Given the description of an element on the screen output the (x, y) to click on. 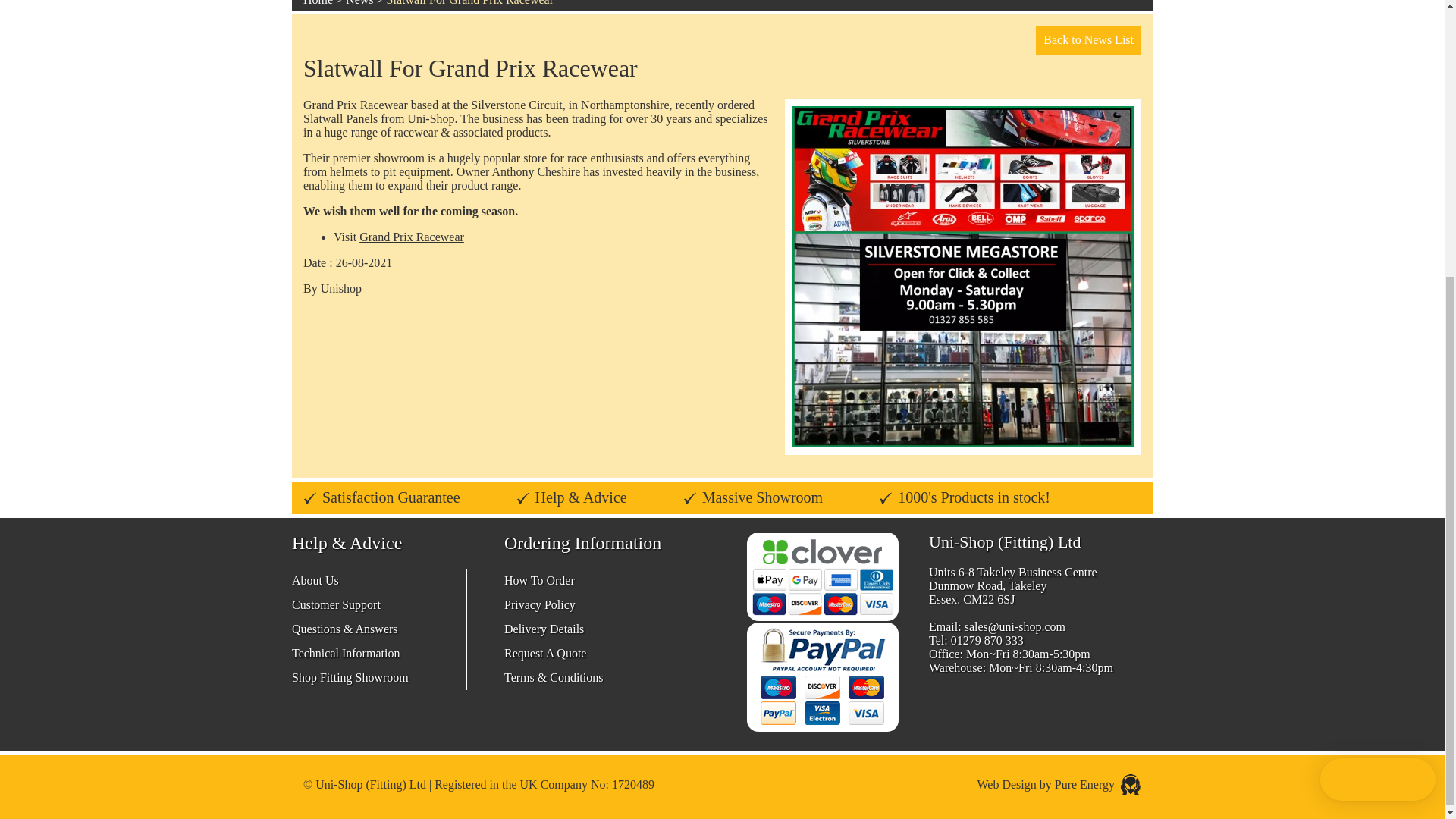
View our Slatwall (339, 118)
Home (317, 2)
Technical Information (345, 653)
About Us (315, 580)
Slatwall Panels (339, 118)
How To Order (539, 580)
Back to News List (1088, 39)
Privacy Policy (539, 604)
Smartsupp widget button (1377, 365)
Grand Prix Racewear (411, 236)
Shop Fitting Showroom (350, 676)
Request A Quote (544, 653)
News (359, 2)
Visit Grand Prix Racewear (411, 236)
Customer Support (336, 604)
